Given the description of an element on the screen output the (x, y) to click on. 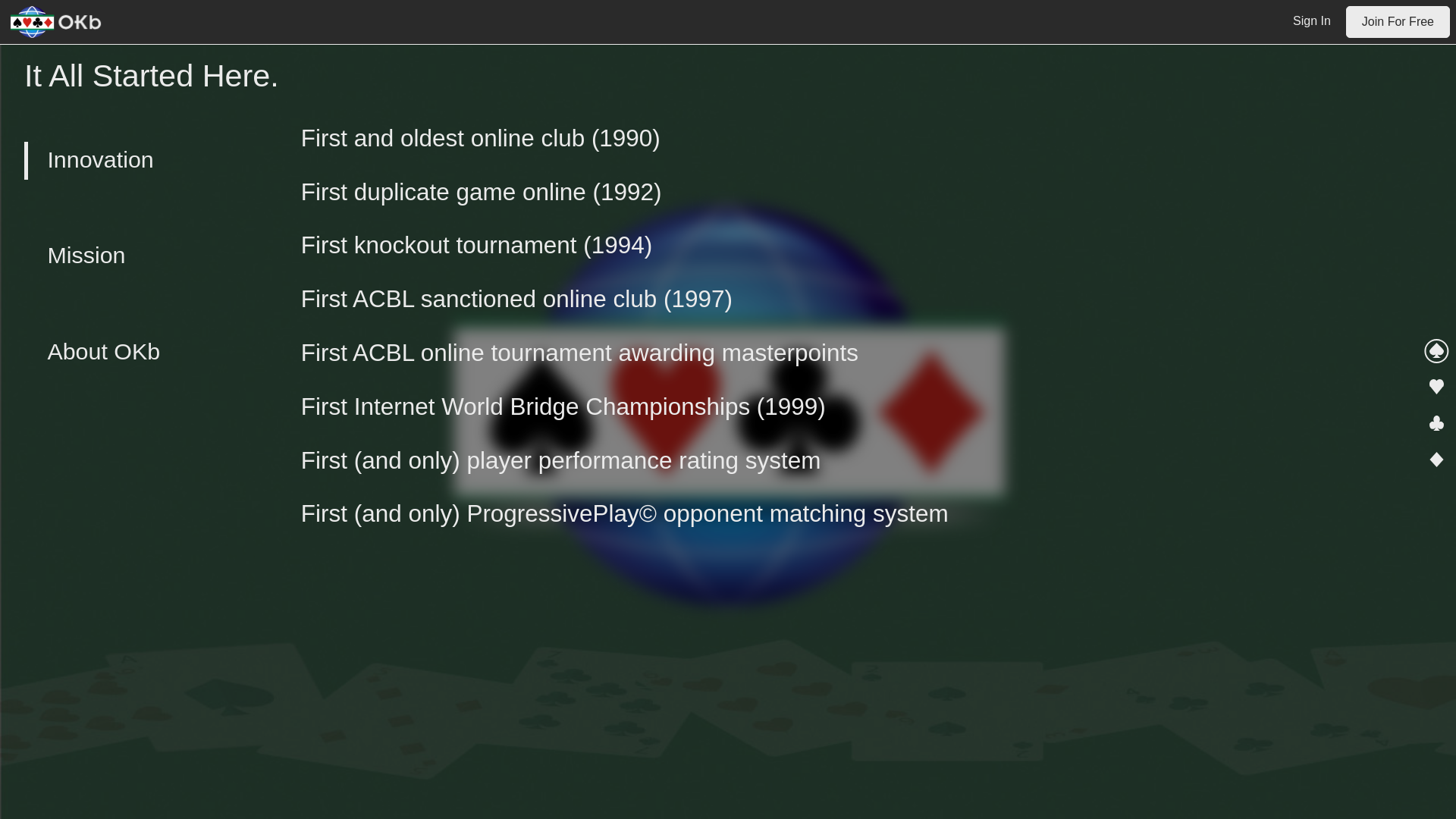
Innovation (162, 159)
Mission (162, 255)
About OKb (162, 350)
